Given the description of an element on the screen output the (x, y) to click on. 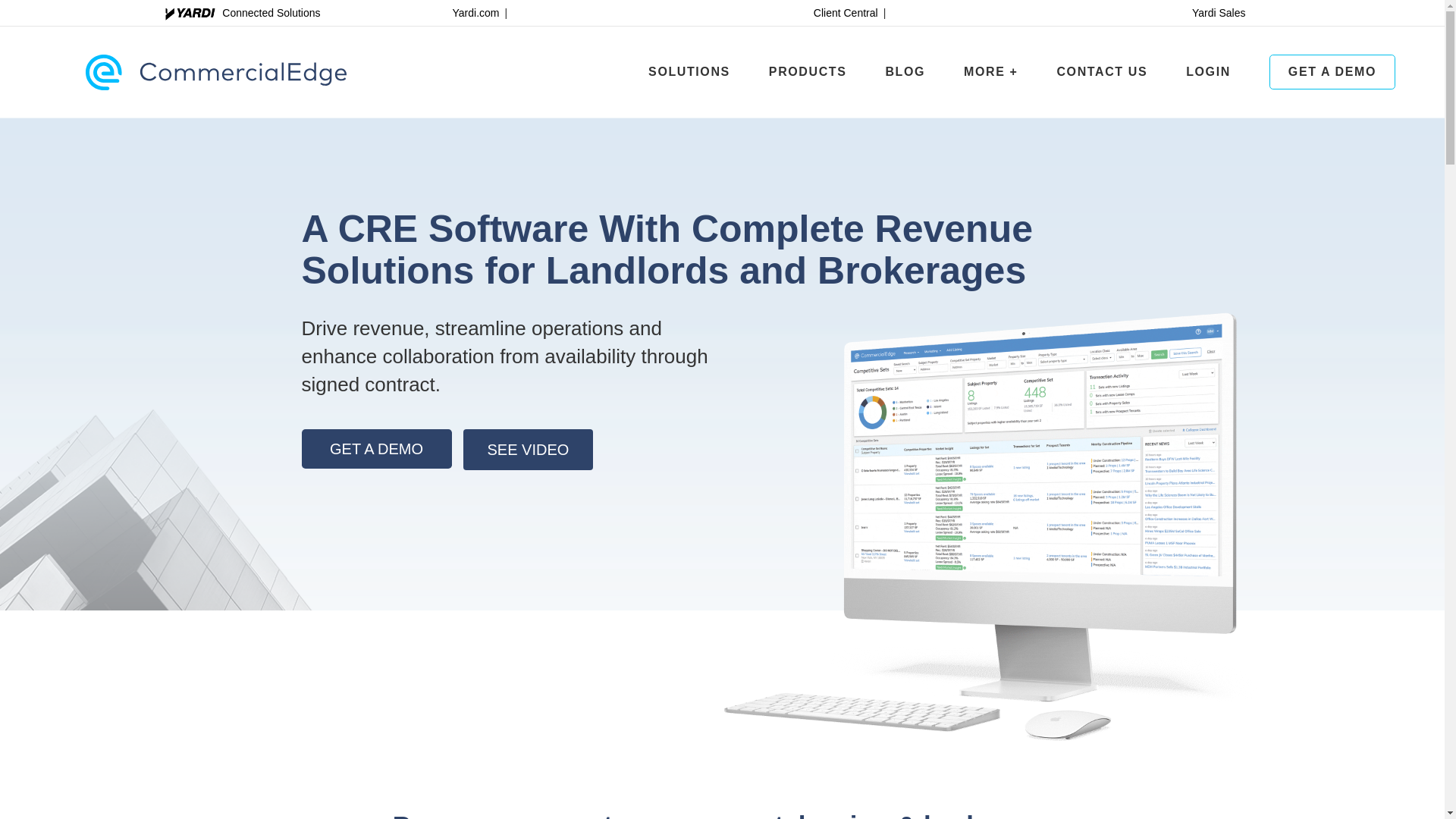
Client Central (845, 12)
BLOG (904, 71)
Yardi Sales (721, 12)
PRODUCTS (1219, 12)
SEE VIDEO (807, 71)
GET A DEMO (527, 449)
GET A DEMO (376, 448)
Yardi.com (1331, 71)
SOLUTIONS (475, 12)
LOGIN (688, 71)
CONTACT US (1208, 71)
